Given the description of an element on the screen output the (x, y) to click on. 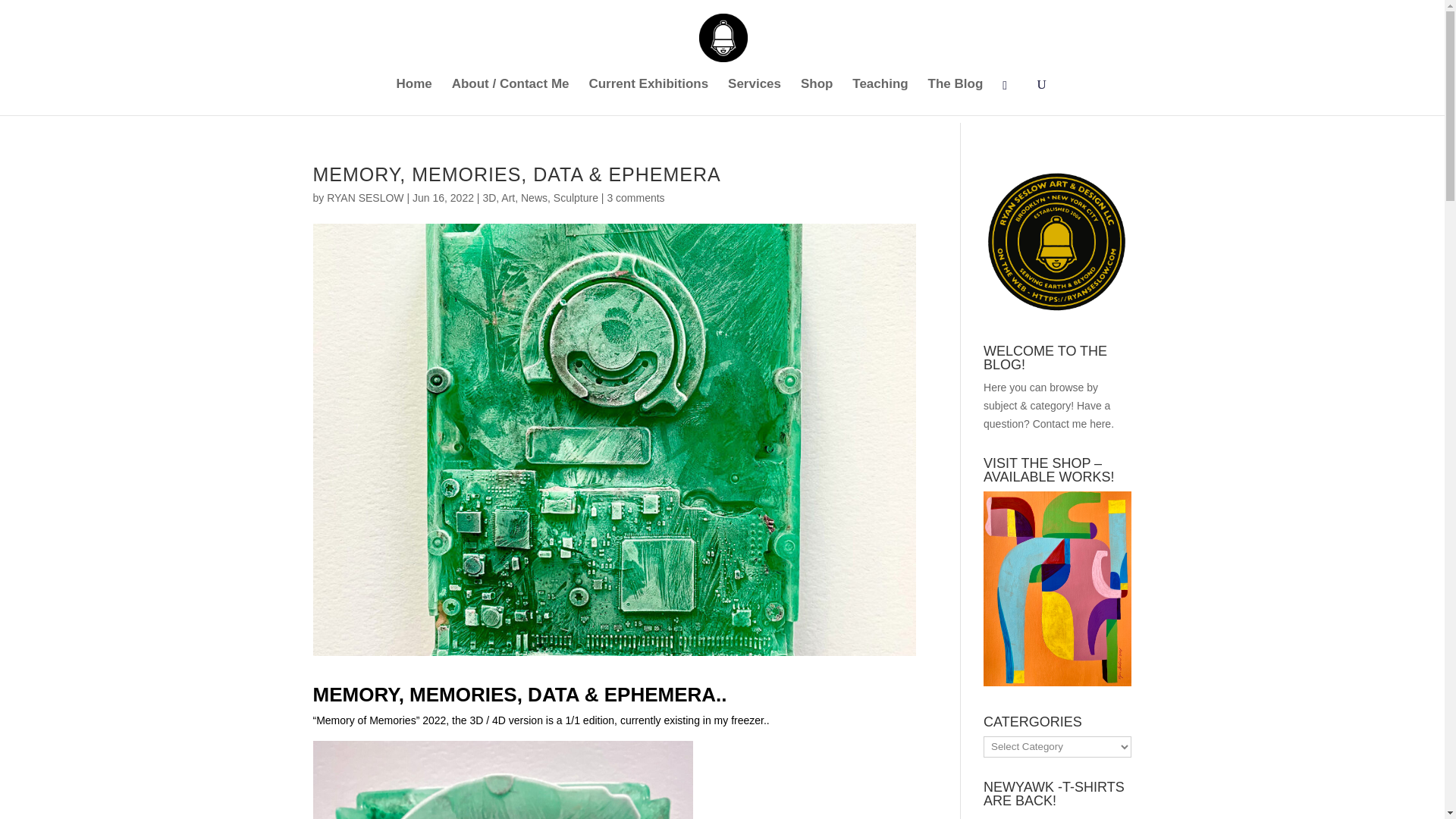
Shop (816, 96)
Services (754, 96)
Posts by RYAN SESLOW (364, 197)
3 comments (635, 197)
Art (507, 197)
3D (488, 197)
The Blog (956, 96)
Teaching (879, 96)
News (534, 197)
Contact me here. (1072, 423)
Current Exhibitions (647, 96)
Home (414, 96)
Sculpture (575, 197)
RYAN SESLOW (364, 197)
